Given the description of an element on the screen output the (x, y) to click on. 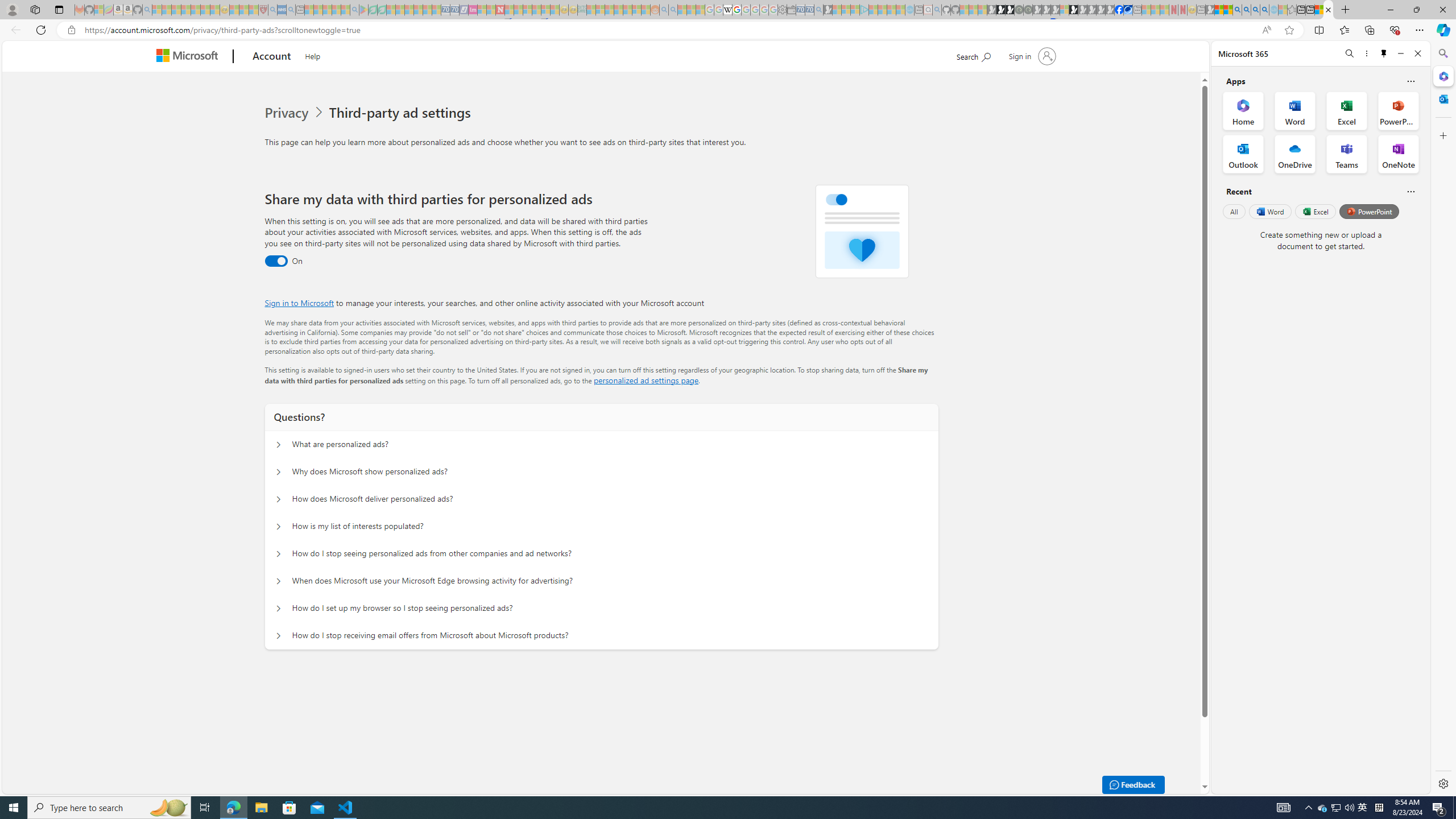
Questions? How is my list of interests populated? (278, 526)
Bing AI - Search (1236, 9)
All (1233, 210)
